Given the description of an element on the screen output the (x, y) to click on. 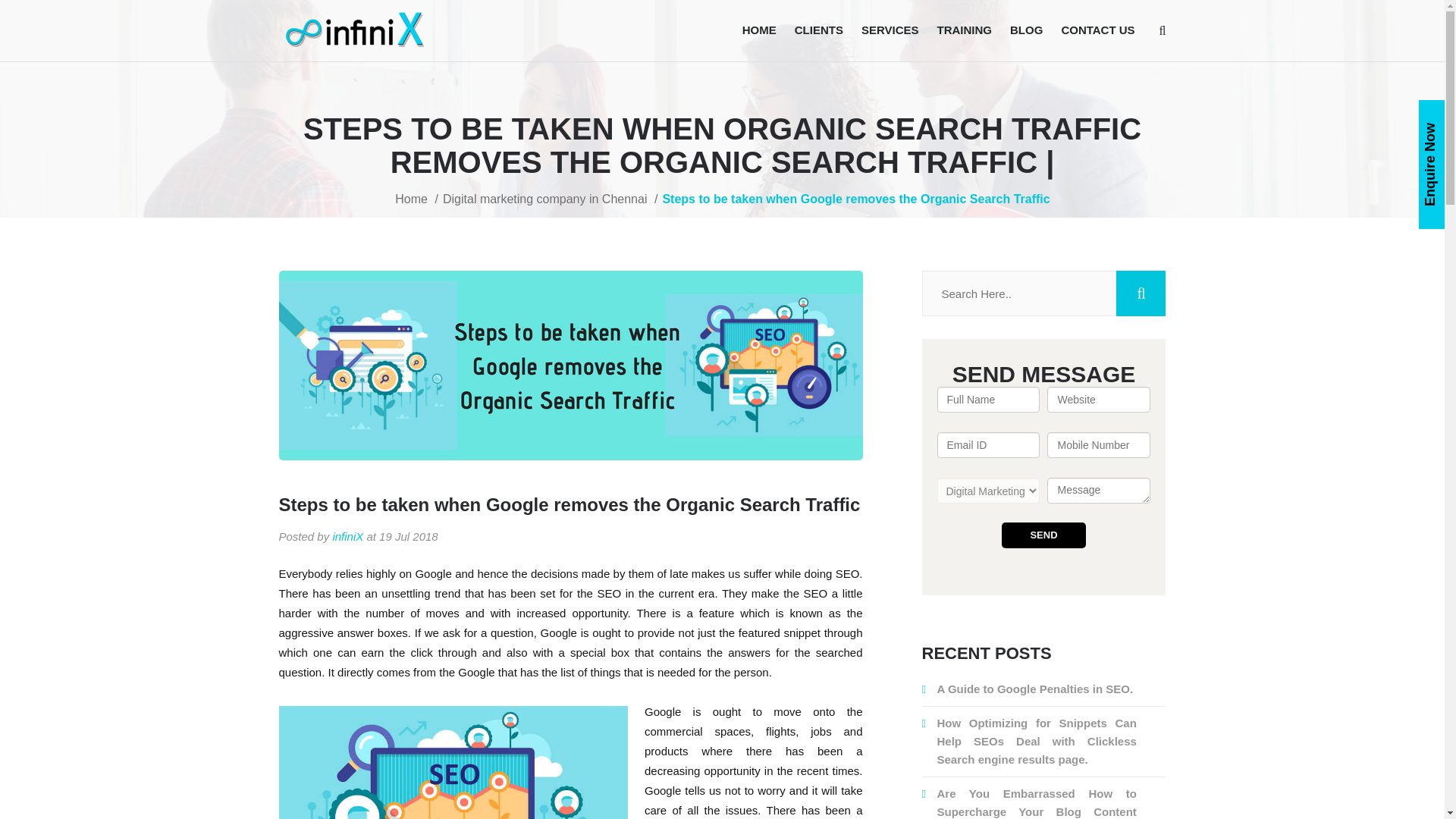
Digital marketing company in Chennai (550, 199)
BLOG (1026, 30)
Services (889, 30)
SERVICES (889, 30)
infiniX (346, 536)
Clients (818, 30)
HOME (759, 30)
CLIENTS (818, 30)
CONTACT US (1096, 30)
Home (759, 30)
Home (416, 199)
Training (964, 30)
Send (1043, 534)
